Given the description of an element on the screen output the (x, y) to click on. 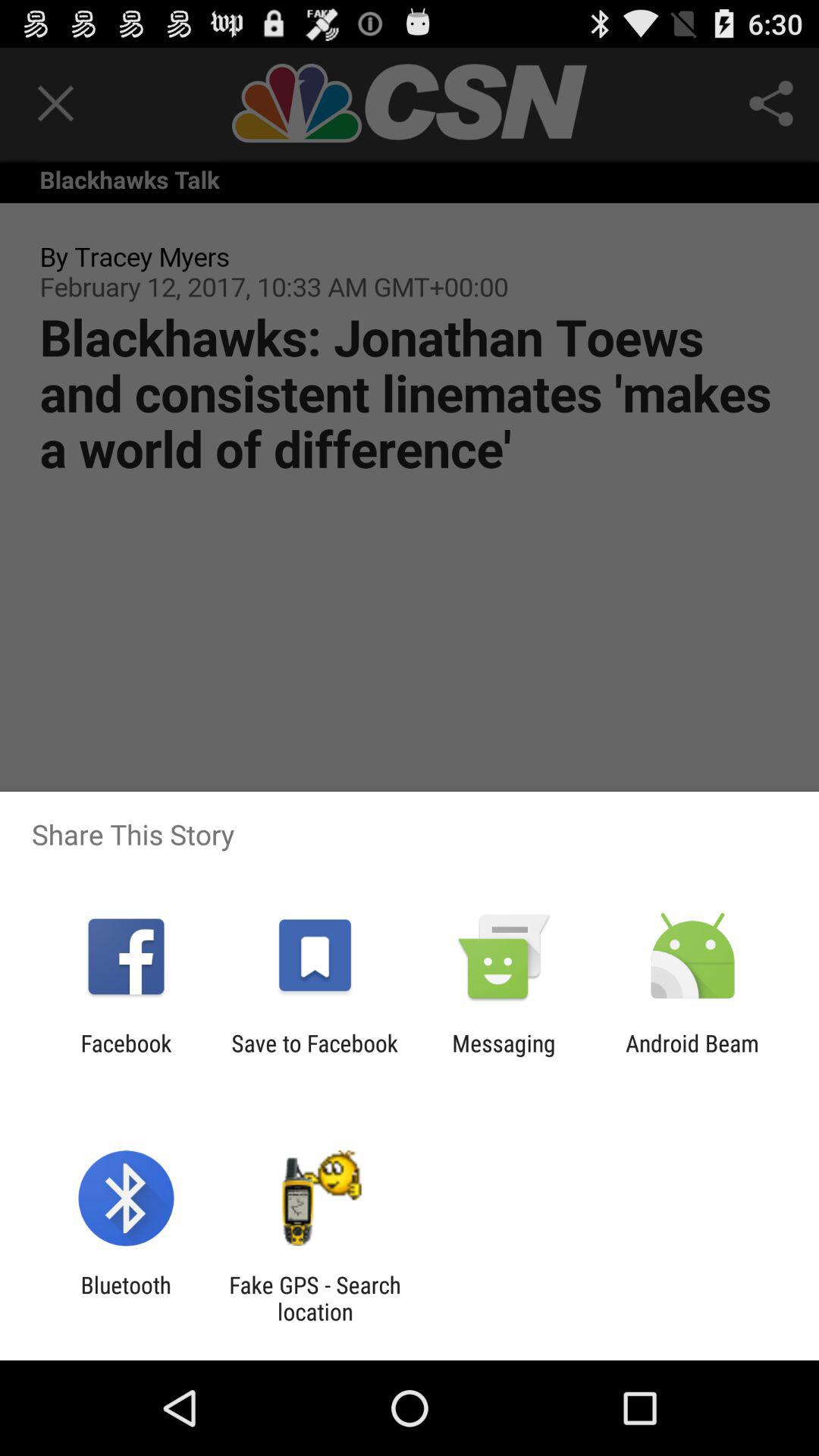
launch fake gps search icon (314, 1298)
